Given the description of an element on the screen output the (x, y) to click on. 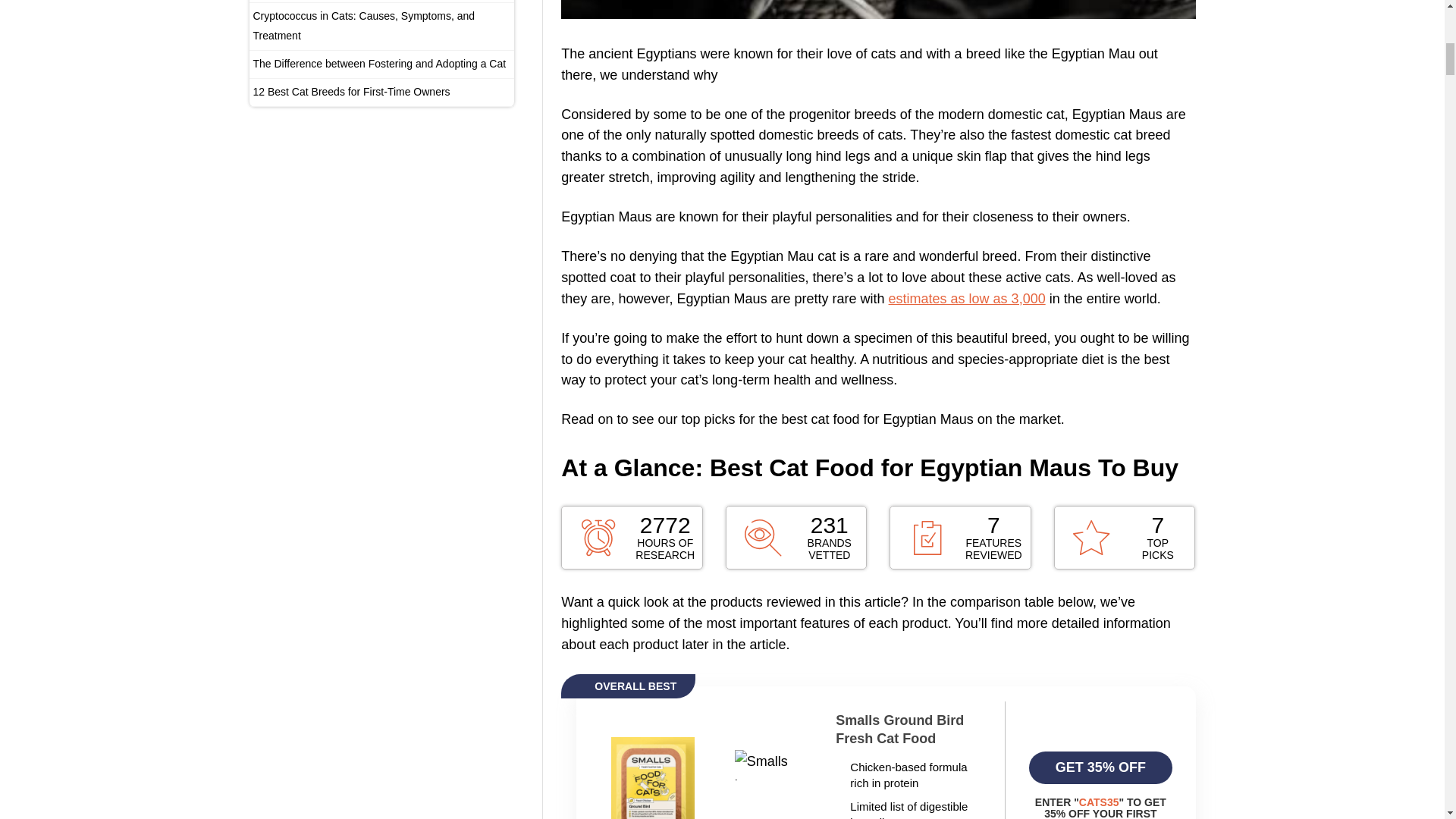
Smalls (1100, 767)
Smalls (652, 776)
Smalls (908, 729)
